Given the description of an element on the screen output the (x, y) to click on. 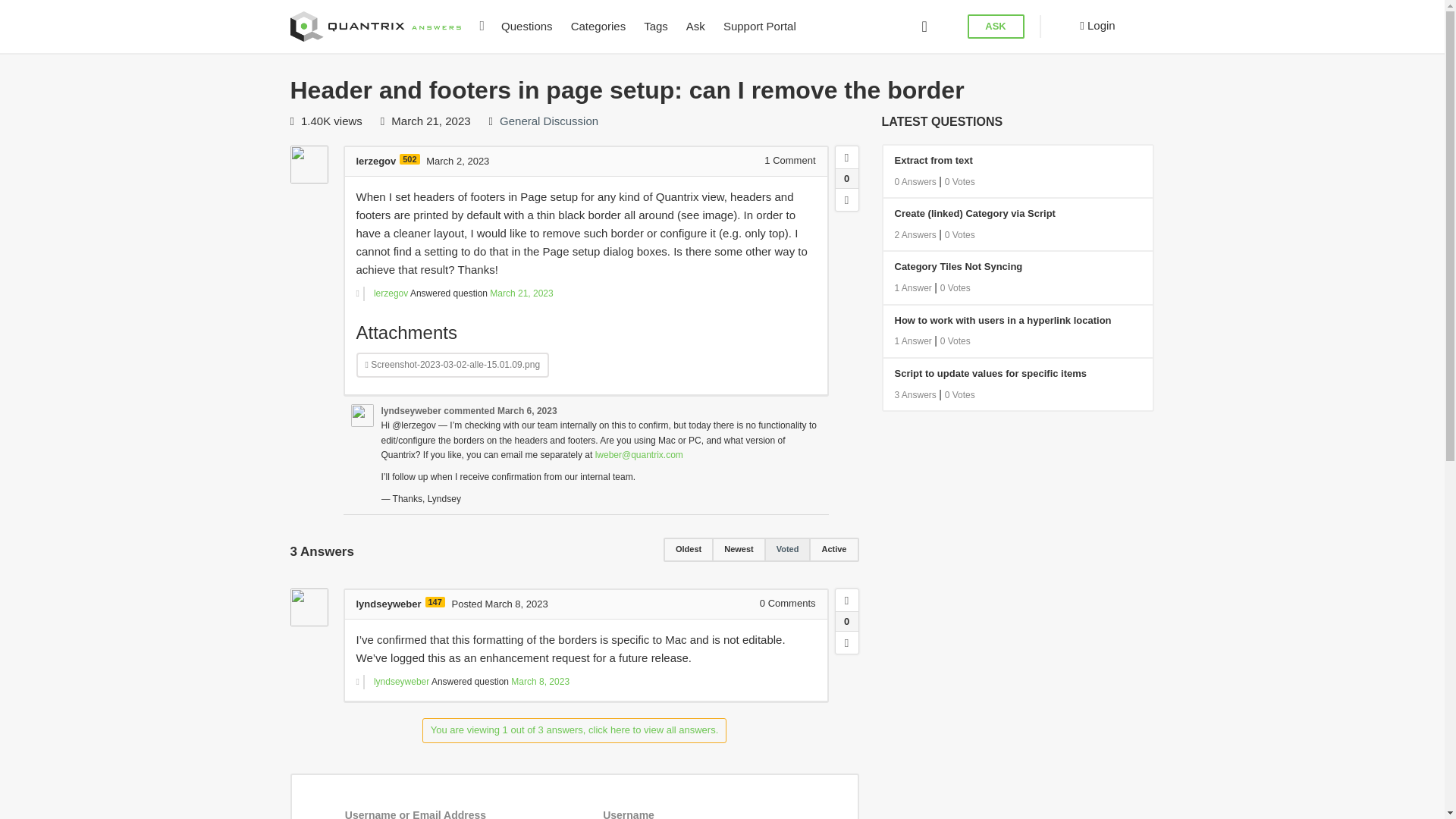
Reputation (408, 158)
Down vote this post (847, 641)
Up vote this post (847, 599)
Questions (527, 26)
Ask (695, 26)
Categories (598, 26)
Support Portal (759, 26)
Tags (655, 26)
ASK (996, 26)
Support Portal (759, 26)
